Given the description of an element on the screen output the (x, y) to click on. 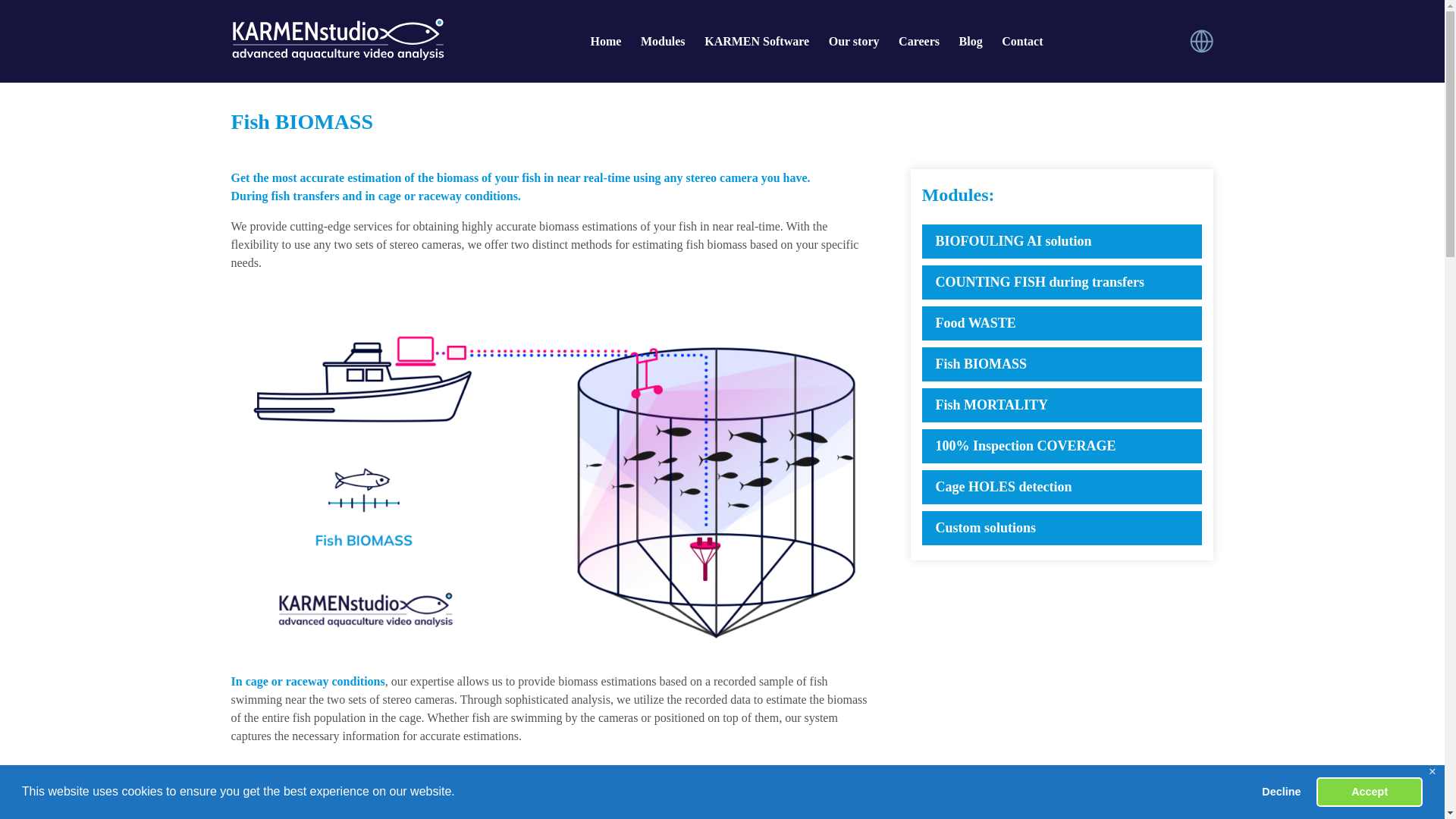
KARMEN Software (756, 40)
Modules (662, 40)
Food WASTE (1061, 323)
Accept (1369, 791)
COUNTING FISH during transfers (1061, 282)
Blog (970, 40)
BIOFOULING AI solution (1061, 241)
KARMENstudio (337, 39)
Our story (853, 40)
Choose language (1200, 40)
Fish MORTALITY (1061, 405)
Home (605, 40)
Fish BIOMASS (1061, 364)
Fish MORTALITY (1061, 405)
Cage HOLES detection (1061, 487)
